Given the description of an element on the screen output the (x, y) to click on. 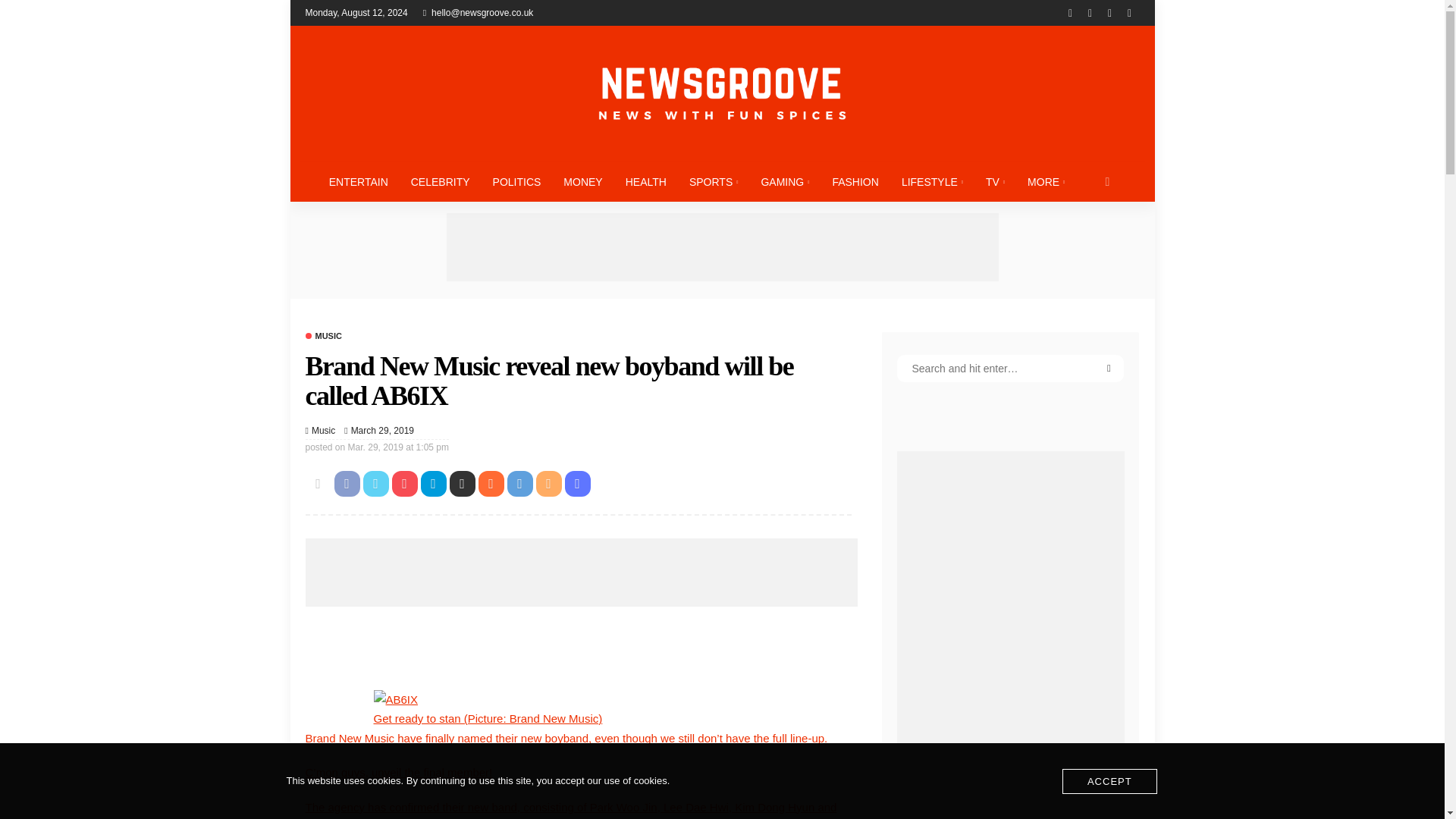
Music (322, 430)
search (1106, 181)
GAMING (785, 181)
POLITICS (517, 181)
ENTERTAIN (357, 181)
SPORTS (713, 181)
NewsGroove Uk (721, 93)
Music (322, 336)
MONEY (581, 181)
CELEBRITY (439, 181)
